Given the description of an element on the screen output the (x, y) to click on. 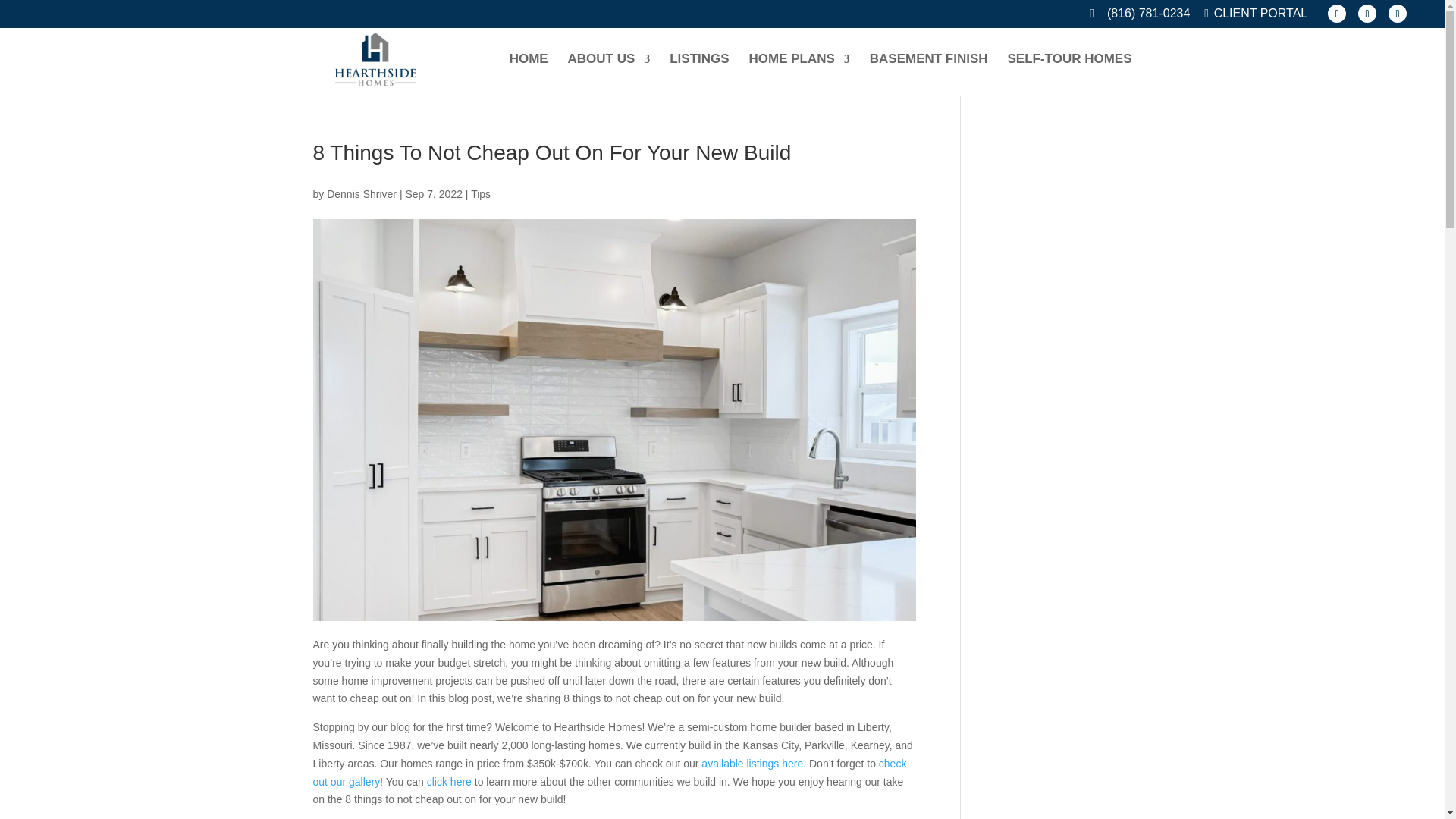
BASEMENT FINISH (928, 74)
SELF-TOUR HOMES (1069, 74)
Posts by Dennis Shriver (361, 193)
ABOUT US (608, 74)
HOME (528, 74)
CLIENT PORTAL (1255, 17)
HOME PLANS (799, 74)
LISTINGS (699, 74)
